Given the description of an element on the screen output the (x, y) to click on. 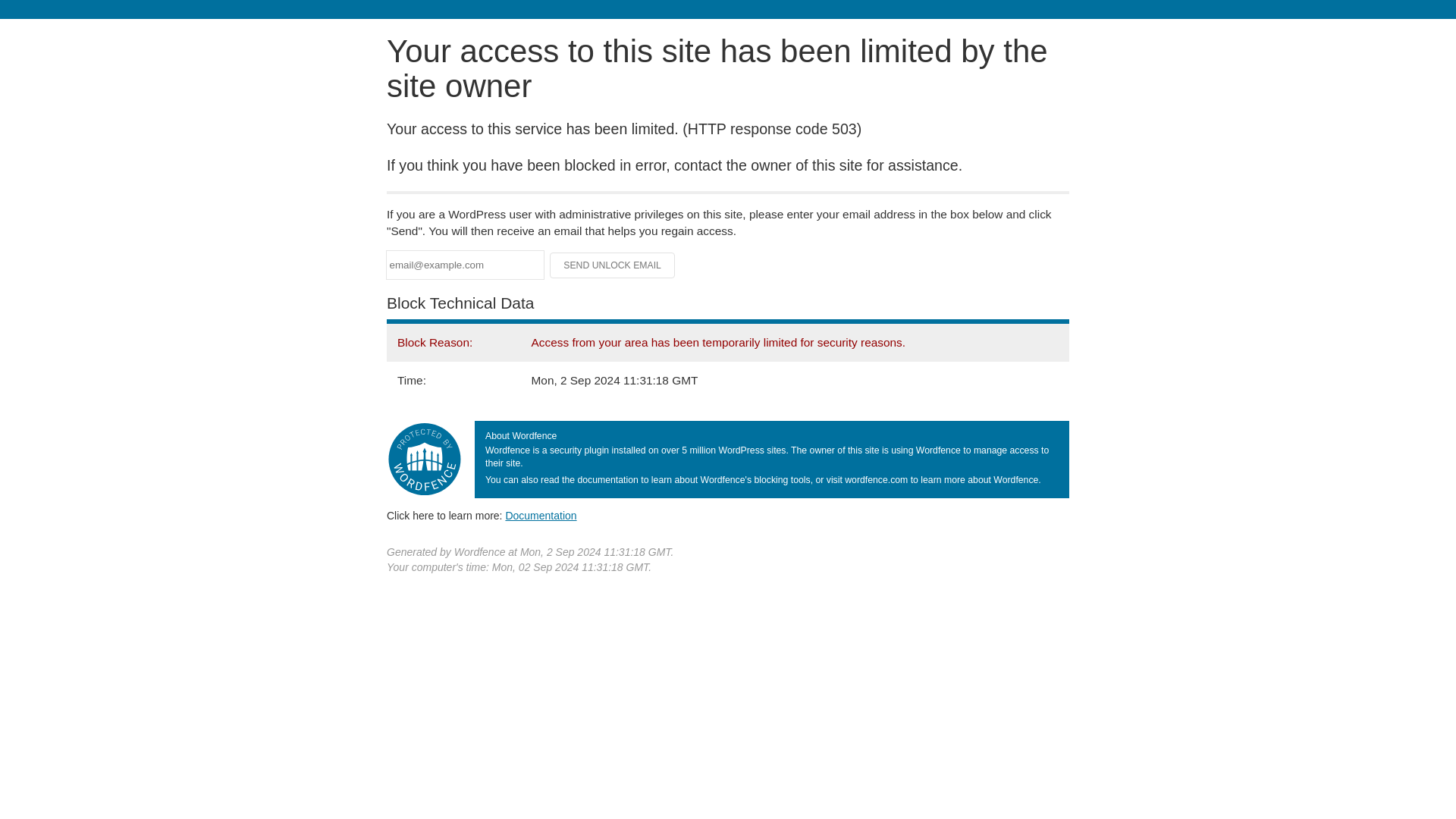
Send Unlock Email (612, 265)
Documentation (540, 515)
Send Unlock Email (612, 265)
